Given the description of an element on the screen output the (x, y) to click on. 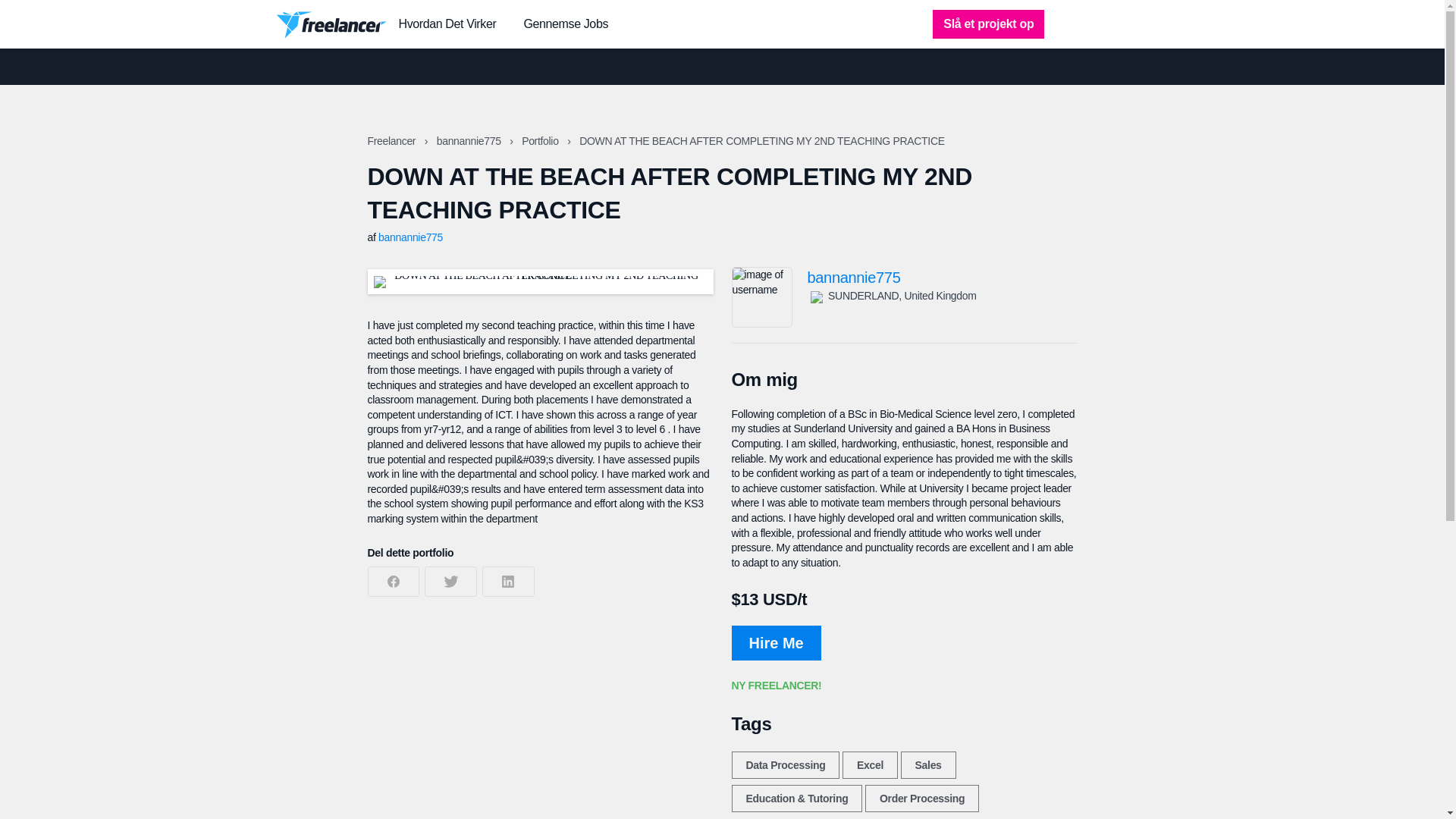
Gennemse Jobs (565, 24)
Hvordan Det Virker (447, 24)
Order Processing (921, 798)
Freelancer (391, 141)
Sales (928, 764)
bannannie775 (941, 277)
Hire Me (775, 642)
bannannie775 (410, 236)
Excel (870, 764)
bannannie775 (469, 141)
